Given the description of an element on the screen output the (x, y) to click on. 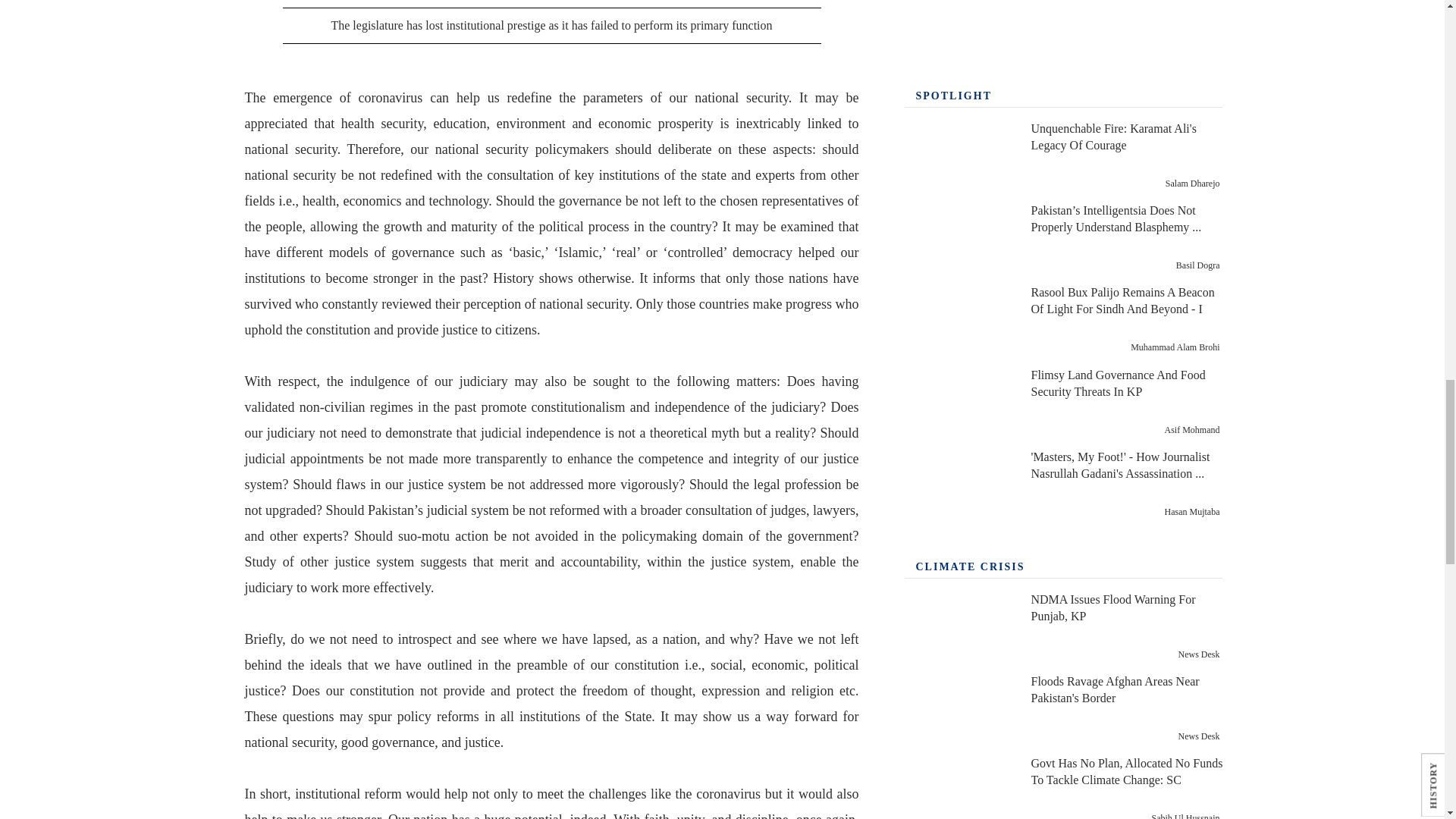
Unquenchable Fire: Karamat Ali's Legacy Of Courage (959, 155)
donor-box (1063, 27)
Flimsy Land Governance And Food Security Threats In KP (959, 402)
